Given the description of an element on the screen output the (x, y) to click on. 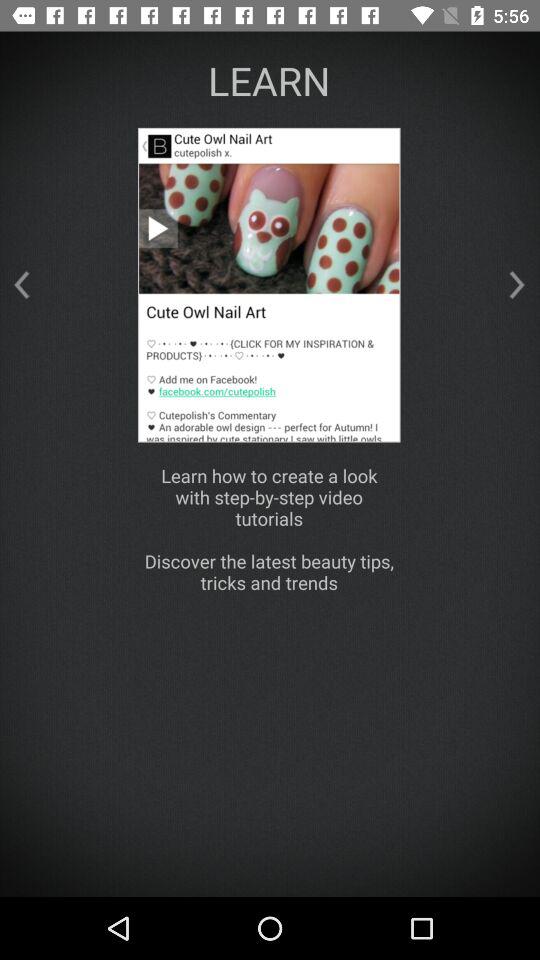
open the item at the top left corner (21, 284)
